Given the description of an element on the screen output the (x, y) to click on. 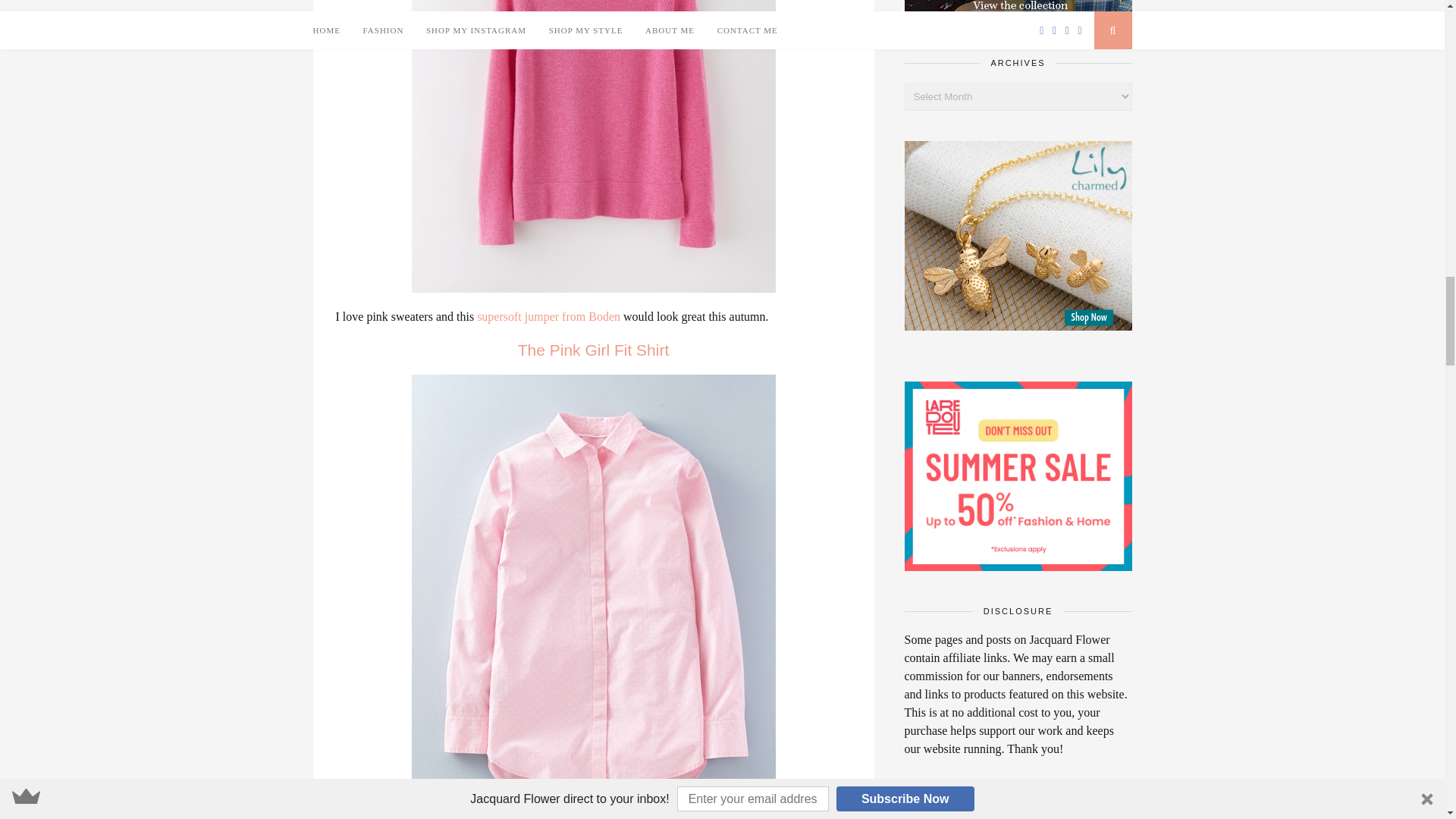
supersoft jumper from Boden (548, 316)
The Pink Girl Fit Shirt (593, 349)
